Given the description of an element on the screen output the (x, y) to click on. 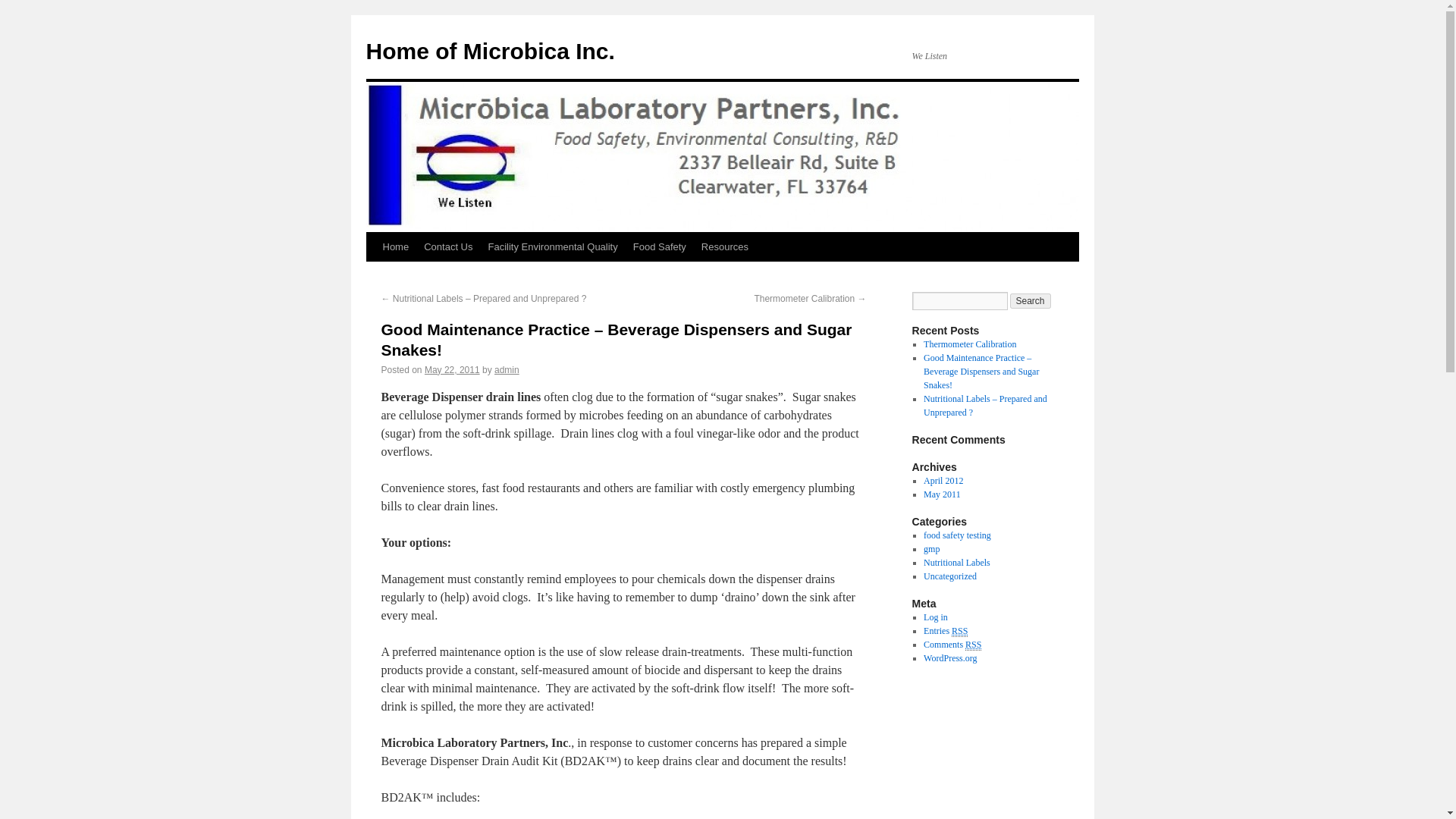
Uncategorized (949, 575)
Resources (724, 246)
Log in (935, 616)
gmp (931, 548)
Nutritional Labels (956, 562)
admin (507, 369)
Entries RSS (945, 631)
Food Safety (660, 246)
Really Simple Syndication (960, 631)
May 2011 (941, 493)
Home (395, 246)
Home of Microbica Inc. (489, 50)
Thermometer Calibration (969, 344)
food safety testing (957, 534)
